Given the description of an element on the screen output the (x, y) to click on. 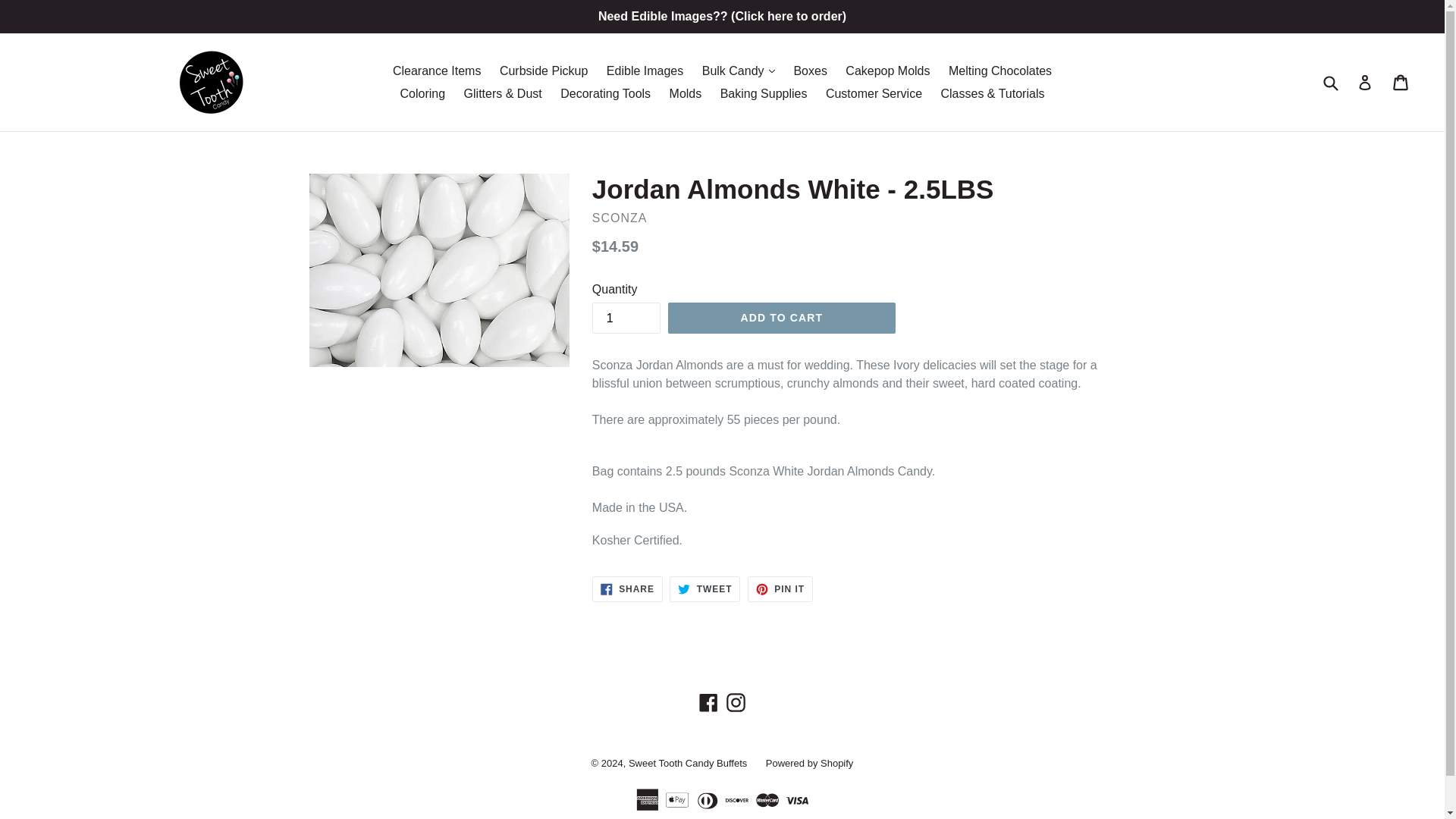
Sweet Tooth Candy Buffets on Instagram (735, 701)
Curbside Pickup (543, 69)
Pin on Pinterest (780, 588)
Tweet on Twitter (704, 588)
1 (626, 317)
Share on Facebook (627, 588)
Edible Images (644, 69)
Sweet Tooth Candy Buffets on Facebook (708, 701)
Clearance Items (437, 69)
